Given the description of an element on the screen output the (x, y) to click on. 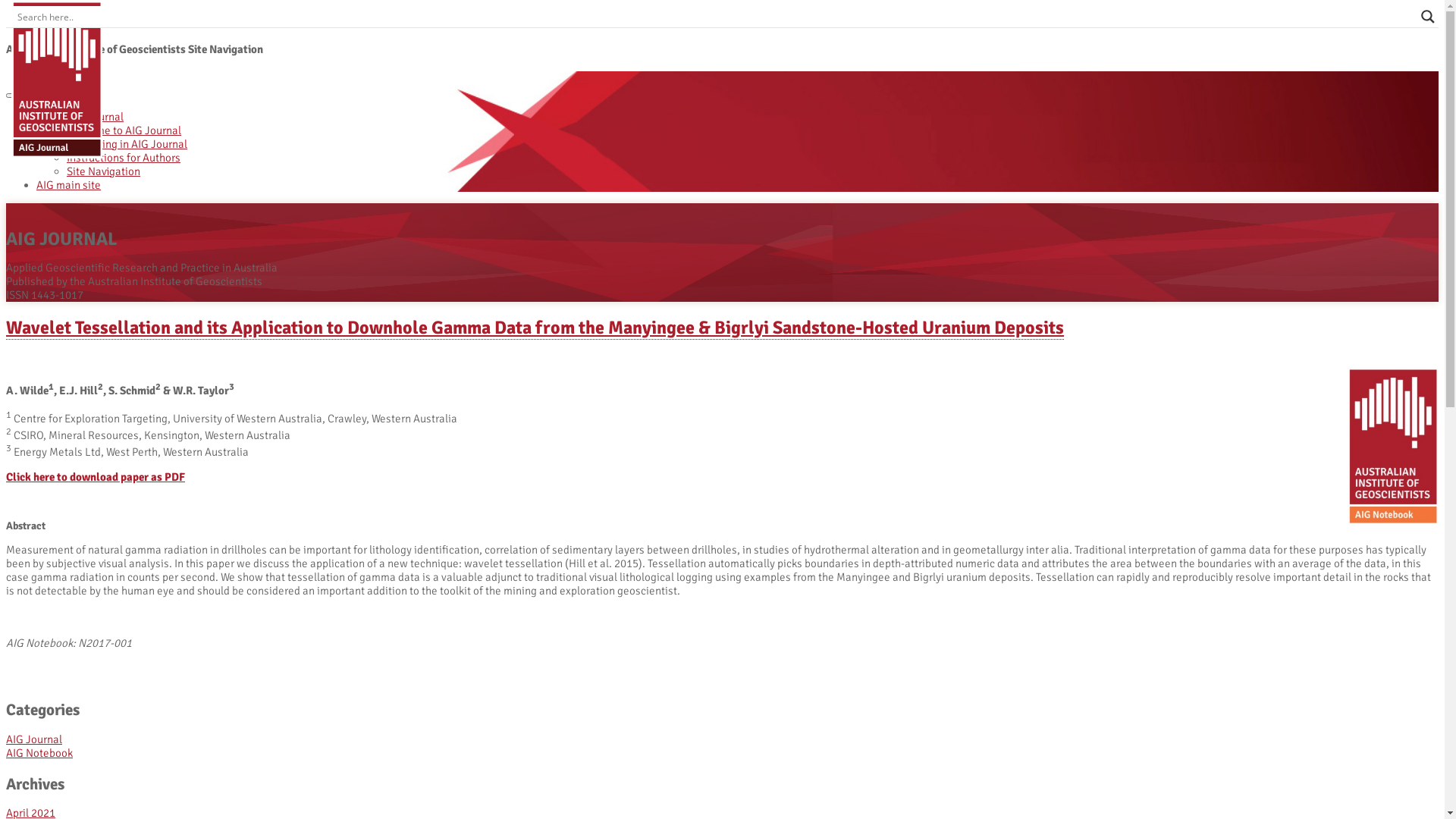
About AIG Journal Element type: text (79, 116)
Instructions for Authors Element type: text (123, 157)
Publishing in AIG Journal Element type: text (126, 143)
AIG Notebook Element type: text (39, 752)
Site Navigation Element type: text (103, 171)
Click here to download paper as PDF Element type: text (95, 476)
AIG Journal Element type: text (34, 739)
AIG main site Element type: text (68, 184)
Welcome to AIG Journal Element type: text (123, 130)
